Given the description of an element on the screen output the (x, y) to click on. 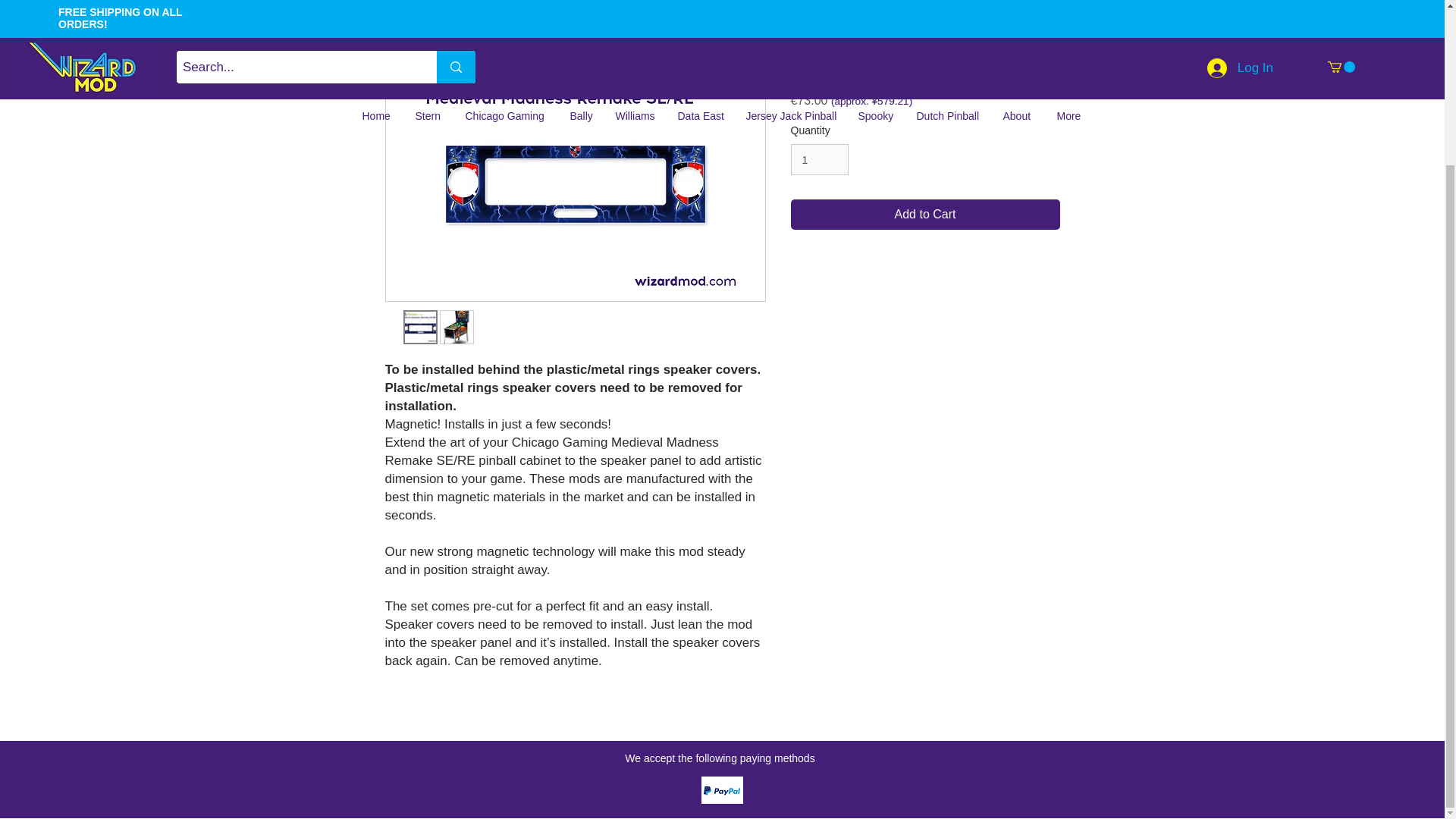
1 (818, 159)
